Given the description of an element on the screen output the (x, y) to click on. 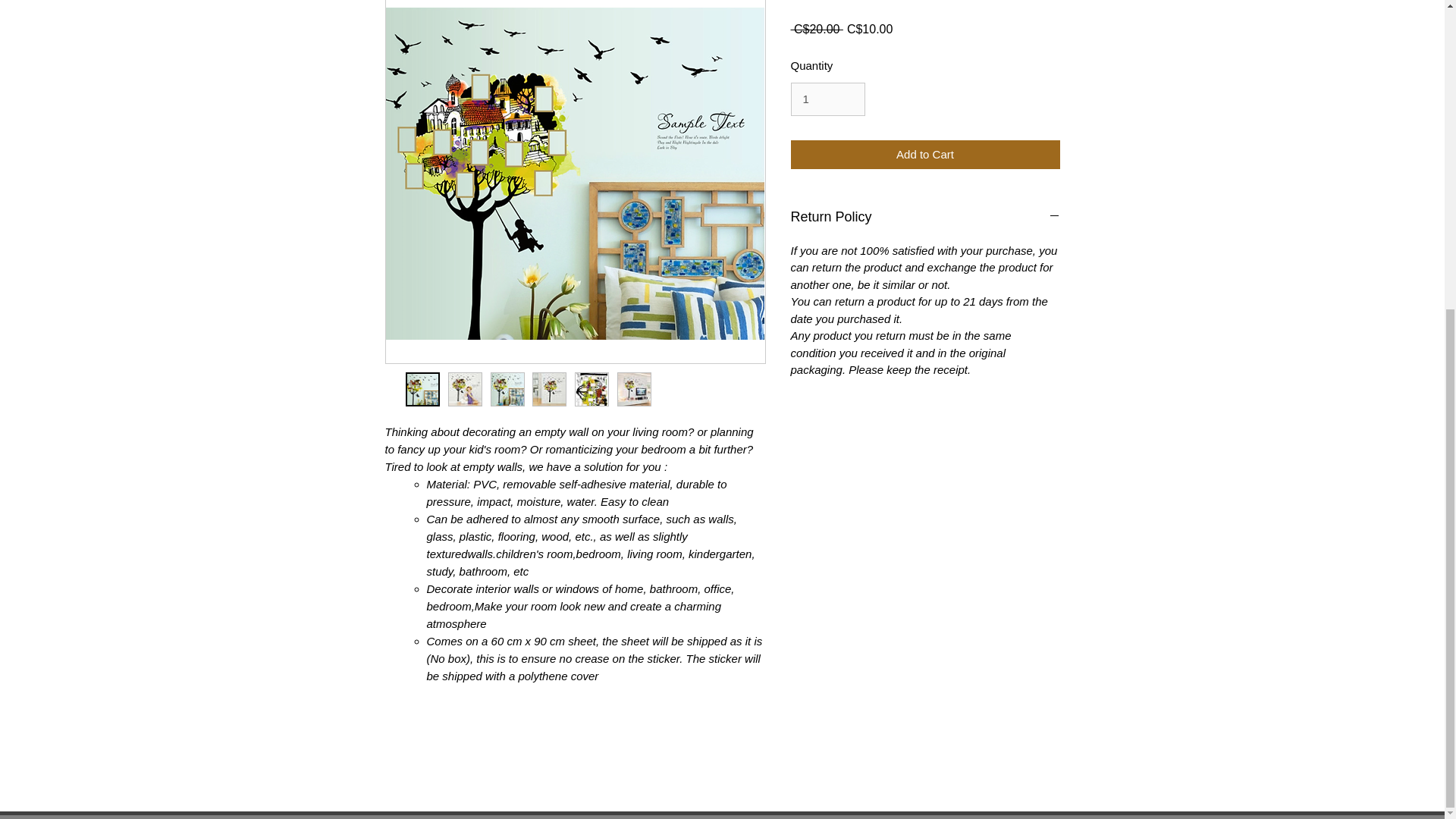
Return Policy (924, 217)
Add to Cart (924, 154)
1 (827, 99)
